Given the description of an element on the screen output the (x, y) to click on. 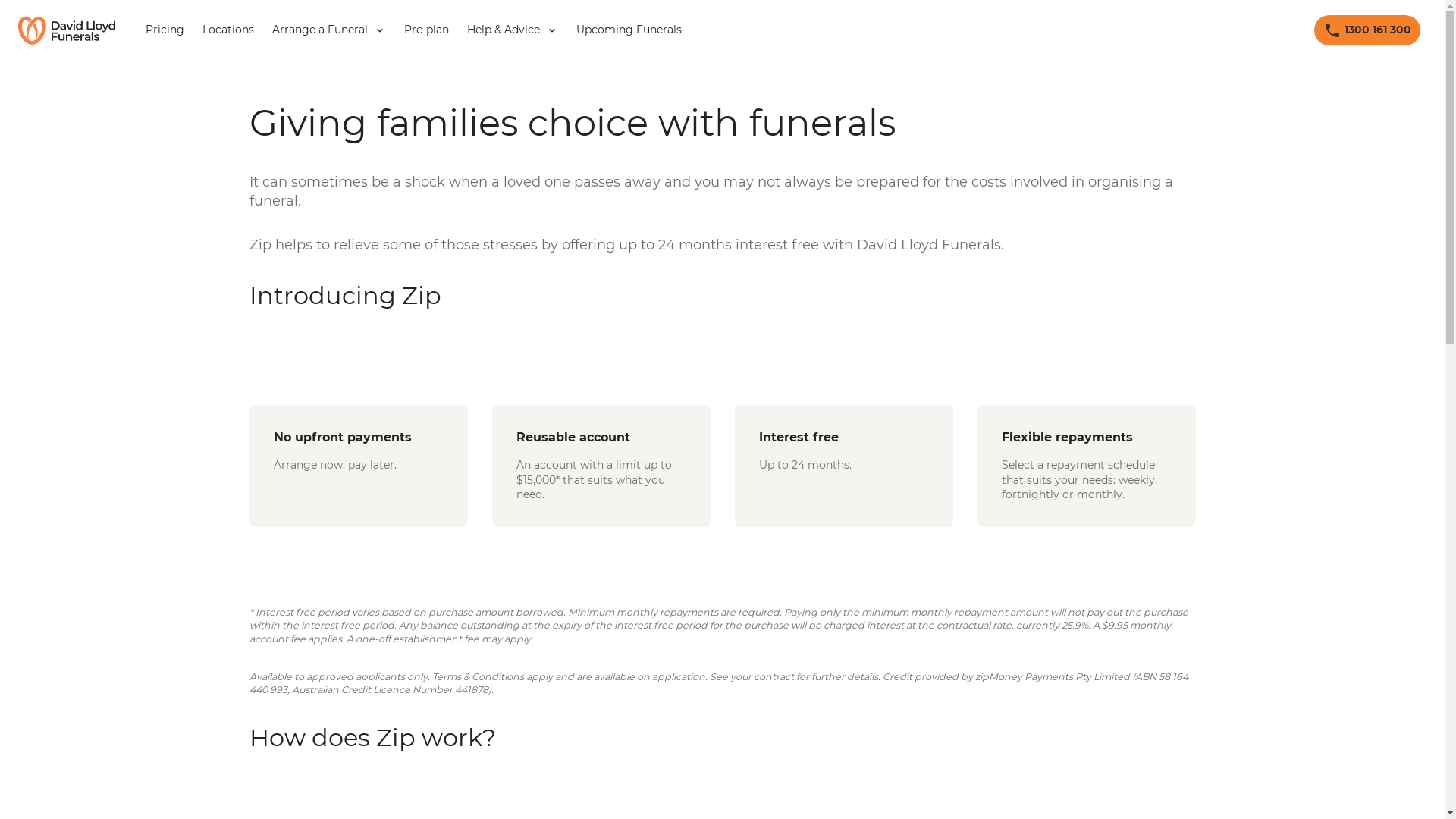
Arrange a Funeral Element type: text (328, 29)
1300 161 300 Element type: text (1367, 30)
Pre-plan Element type: text (426, 29)
Pricing Element type: text (164, 29)
Upcoming Funerals Element type: text (628, 29)
Return to david-lloyd home page Element type: hover (66, 30)
Locations Element type: text (228, 29)
Help & Advice Element type: text (512, 29)
